Given the description of an element on the screen output the (x, y) to click on. 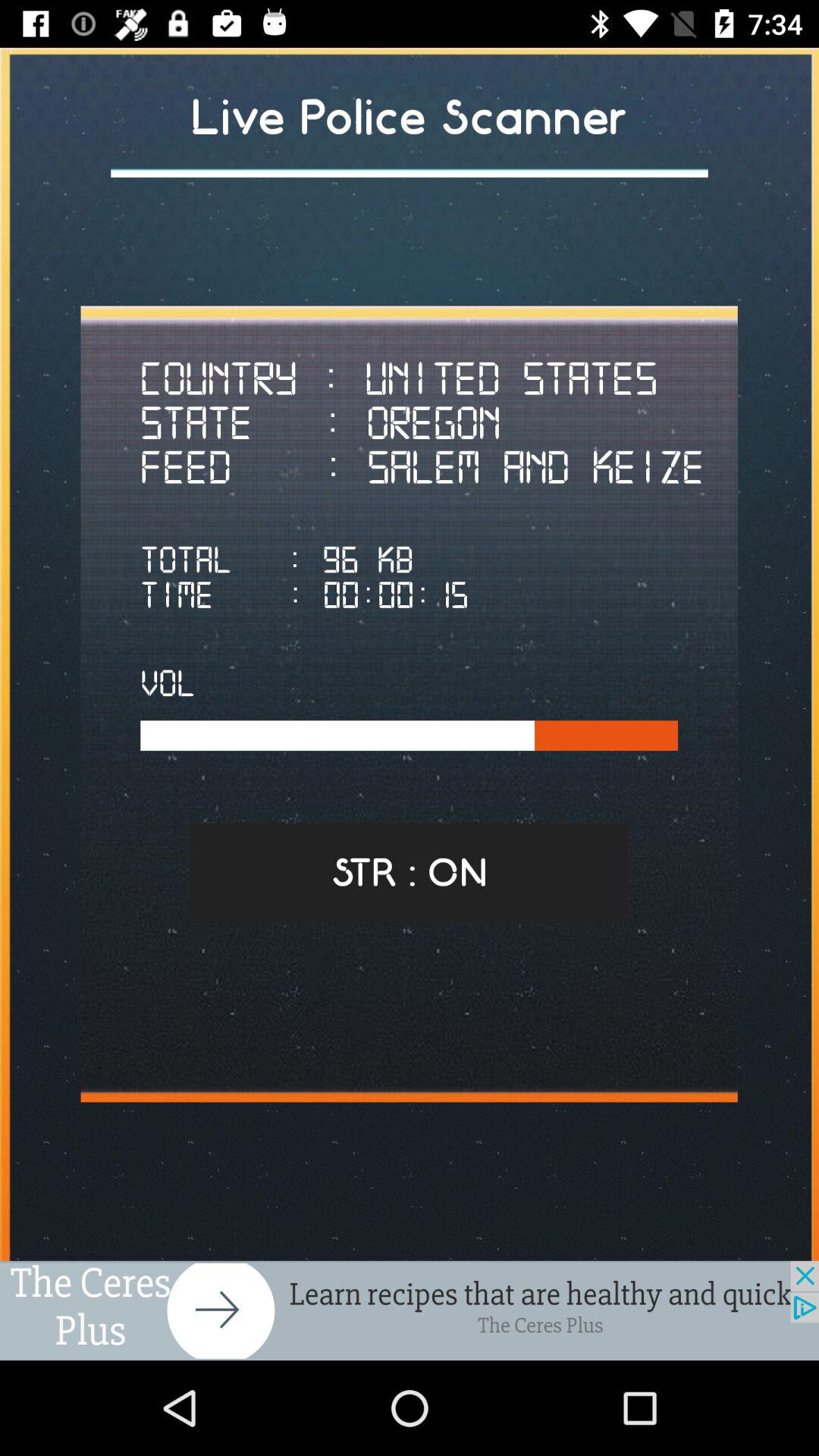
go to advertisement (409, 1310)
